Given the description of an element on the screen output the (x, y) to click on. 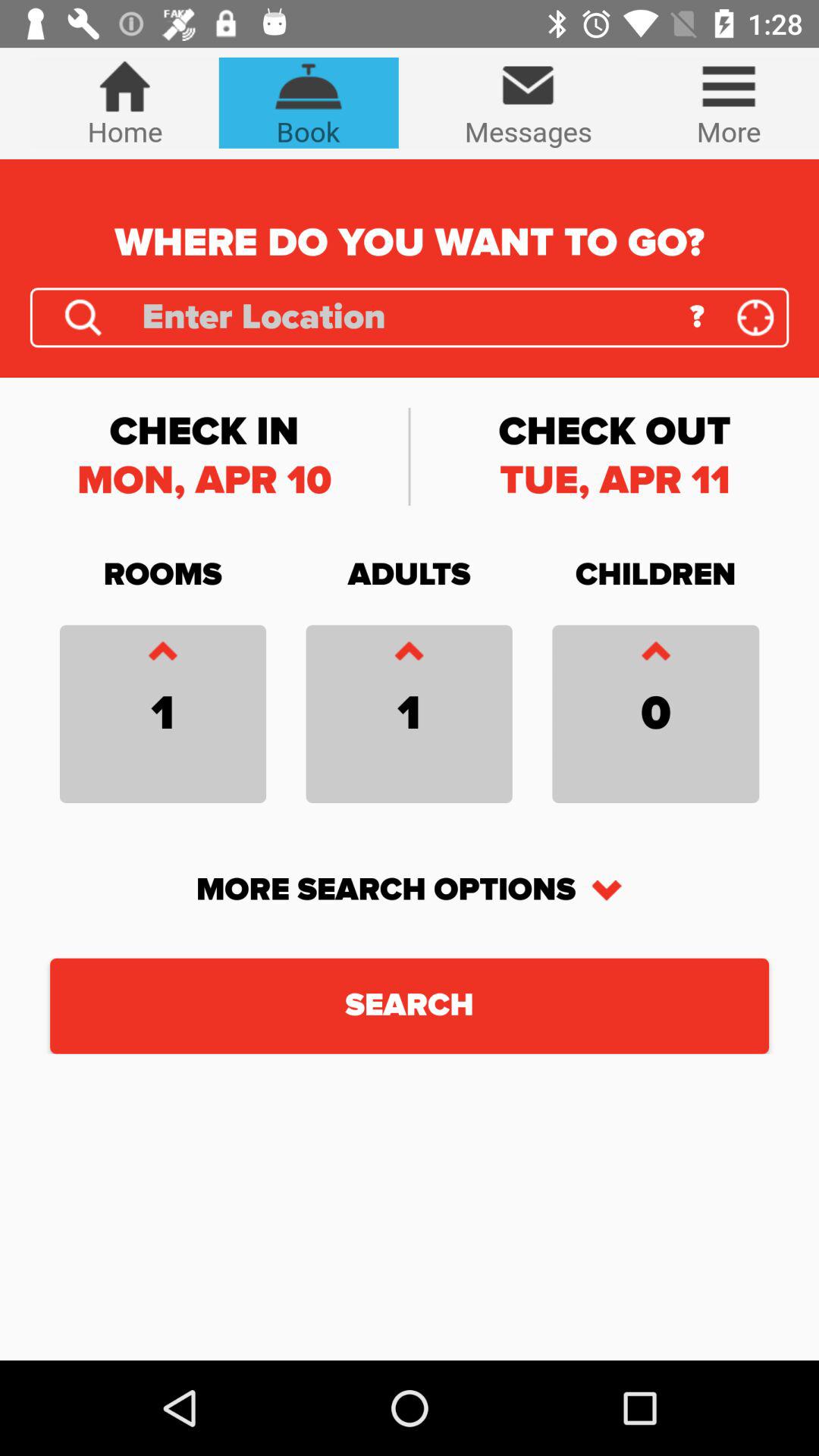
click icon above check in item (83, 317)
